Given the description of an element on the screen output the (x, y) to click on. 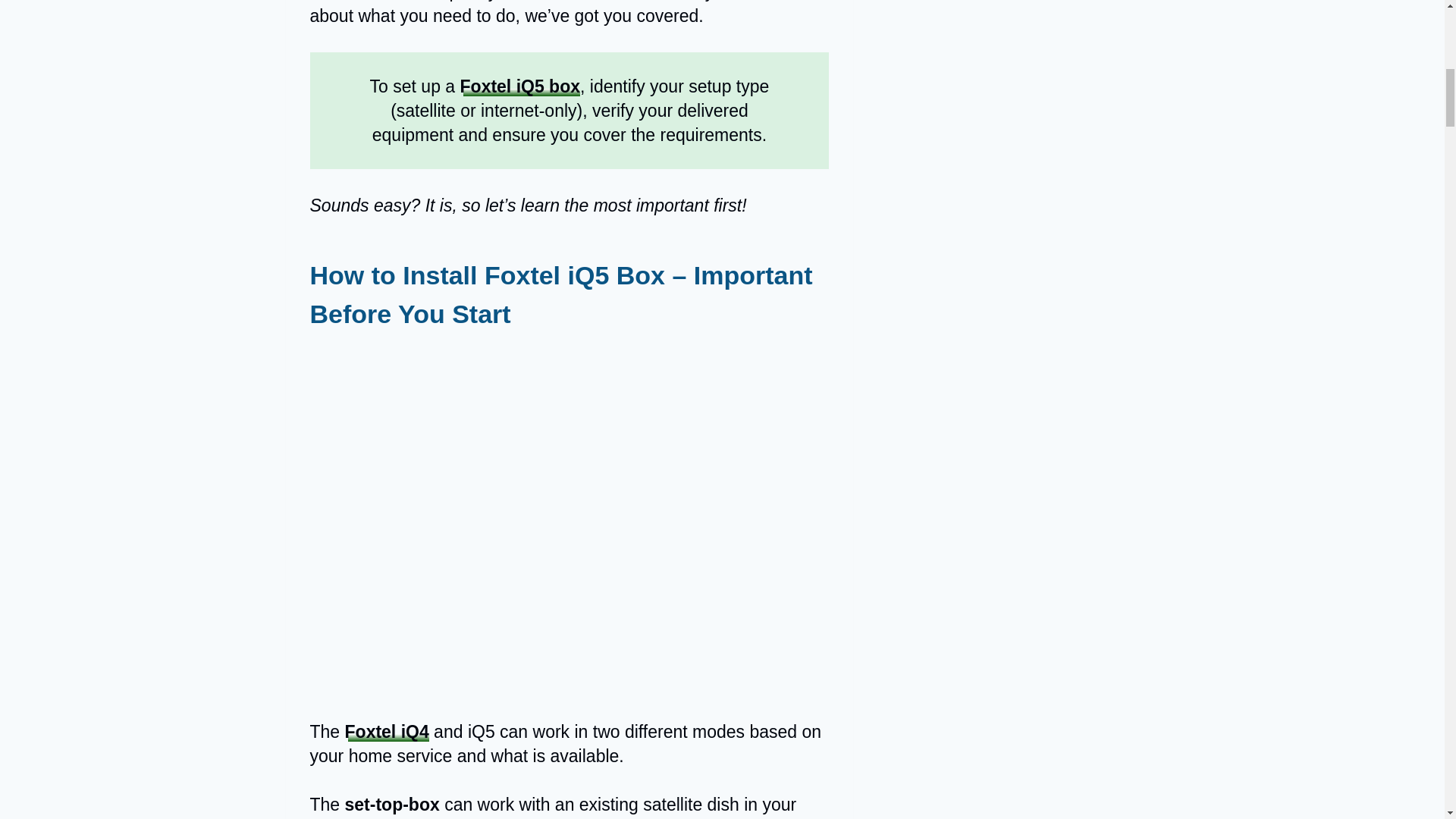
Foxtel iQ4 (387, 731)
Foxtel iQ5 box (519, 86)
